Given the description of an element on the screen output the (x, y) to click on. 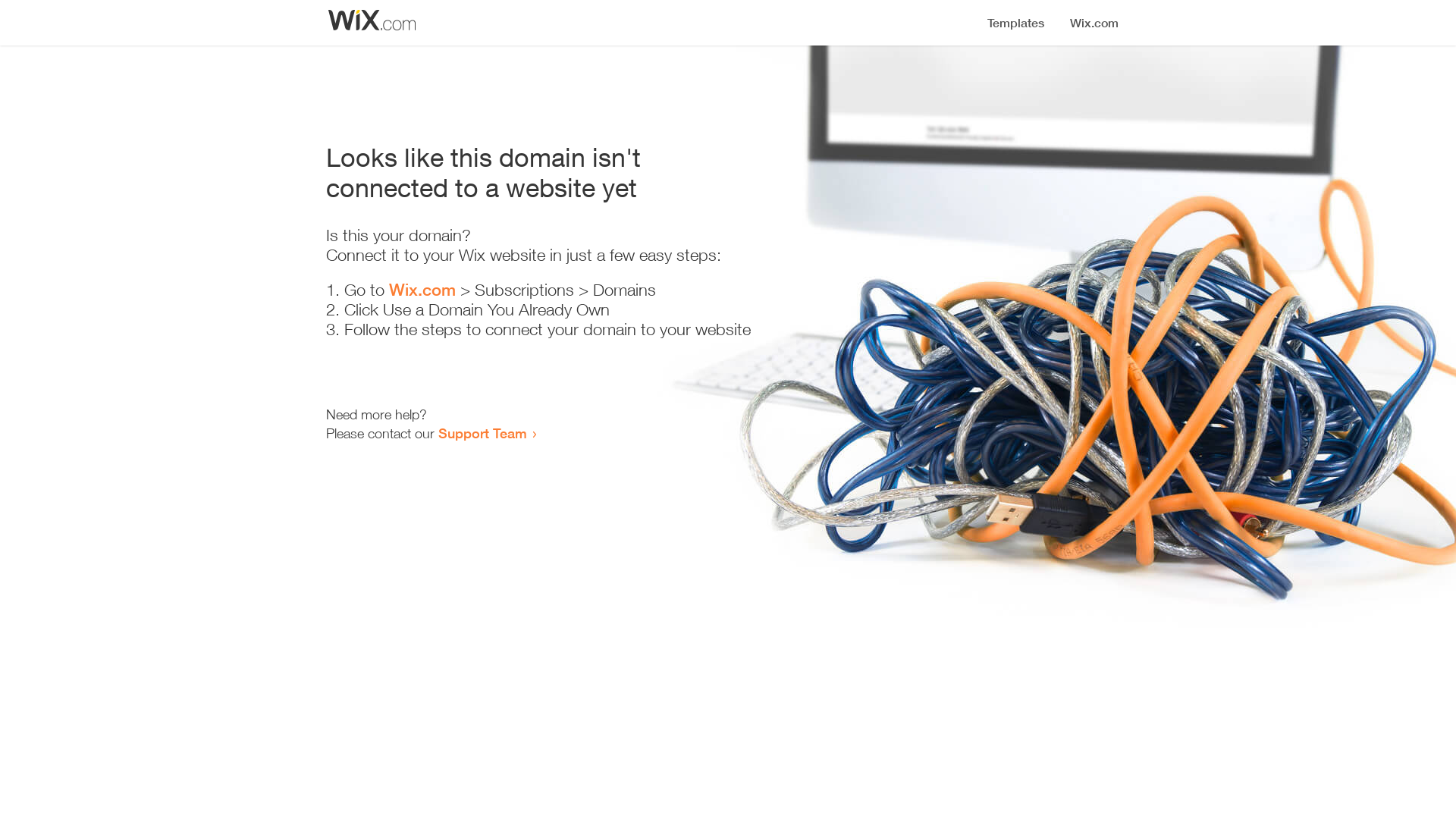
Wix.com Element type: text (422, 289)
Support Team Element type: text (482, 432)
